Given the description of an element on the screen output the (x, y) to click on. 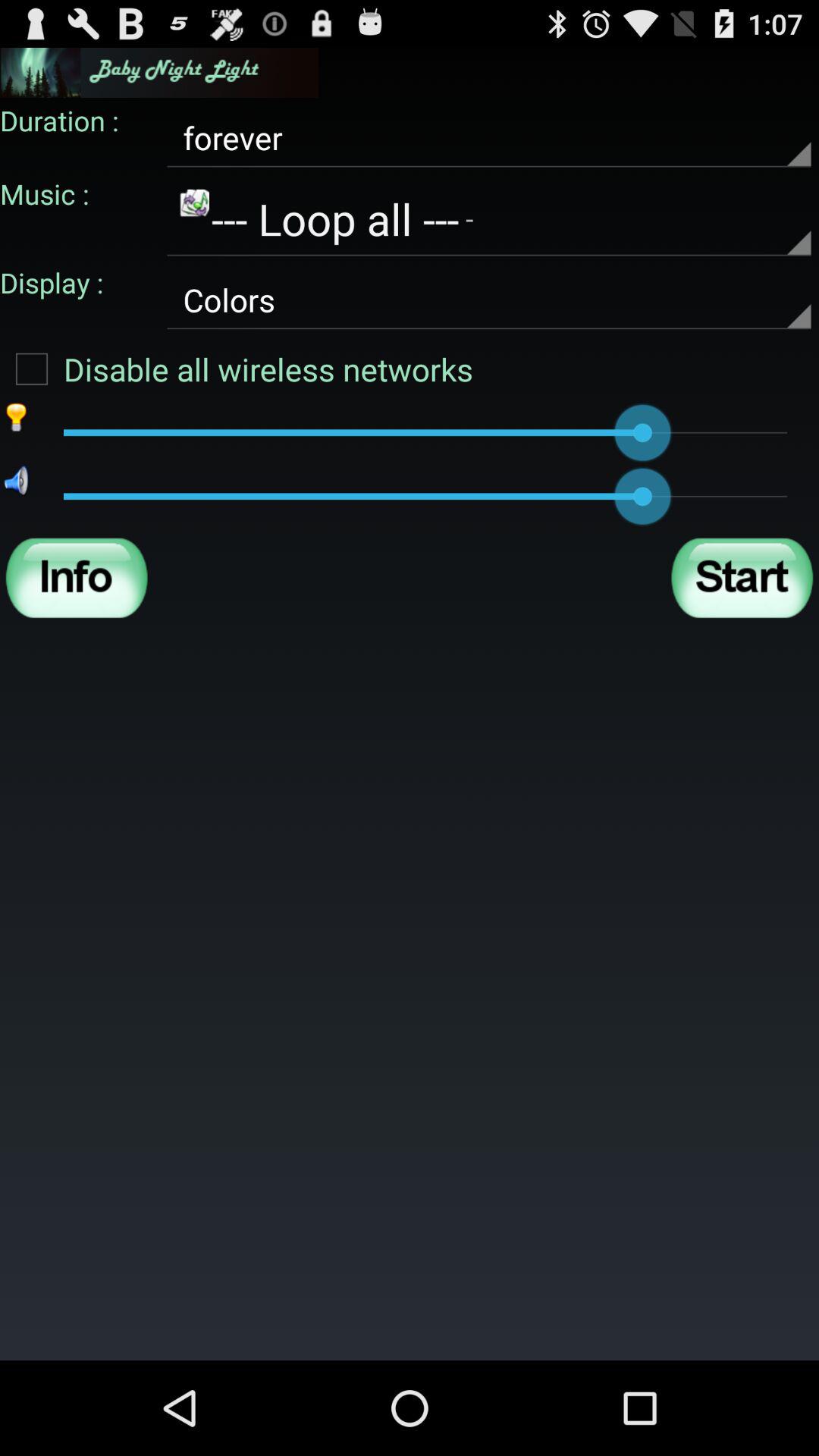
show information (76, 577)
